Given the description of an element on the screen output the (x, y) to click on. 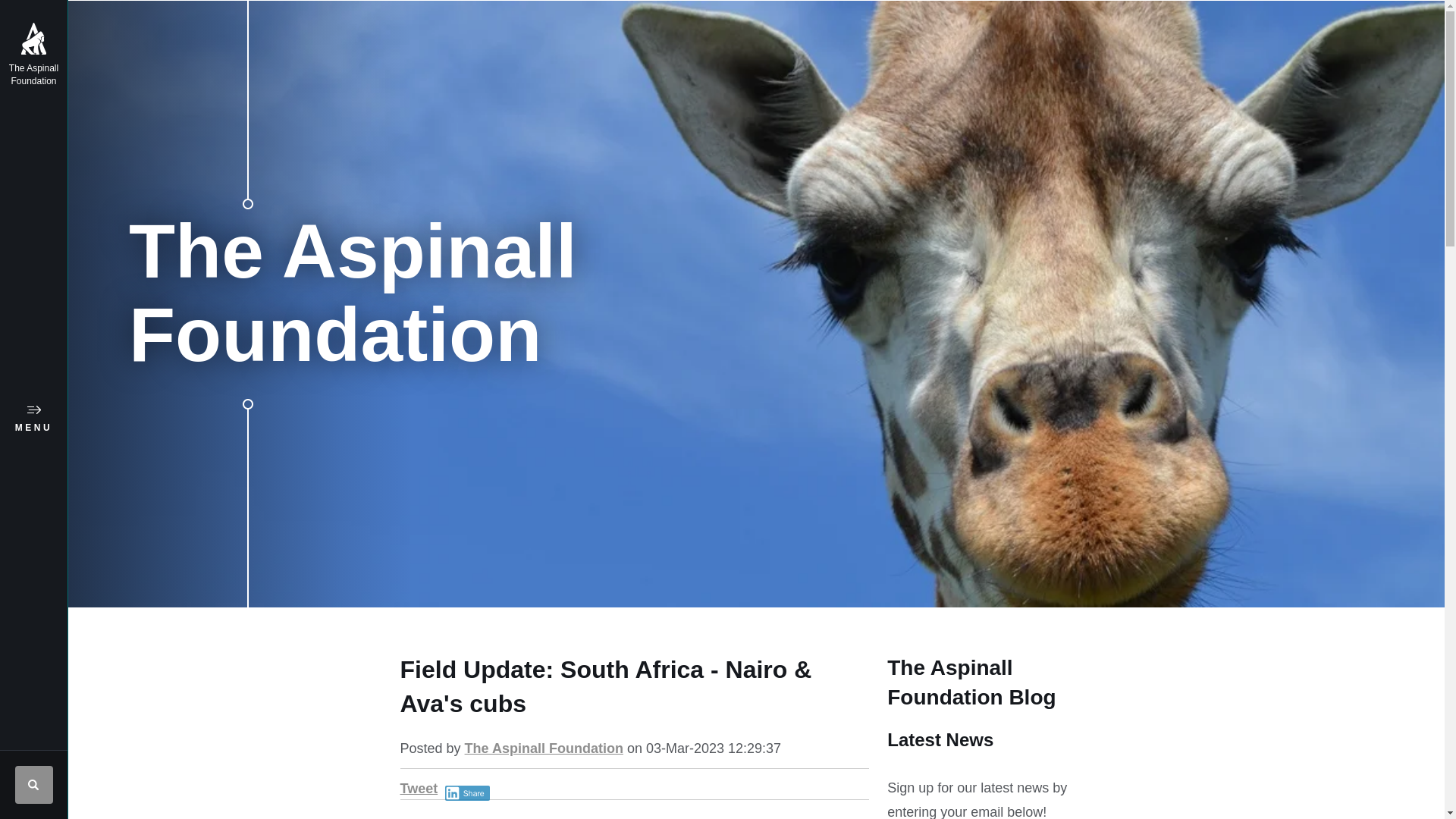
Share (467, 792)
The Aspinall Foundation (543, 748)
MENU (33, 419)
The Aspinall Foundation (33, 62)
Search (33, 784)
Tweet (419, 788)
